Given the description of an element on the screen output the (x, y) to click on. 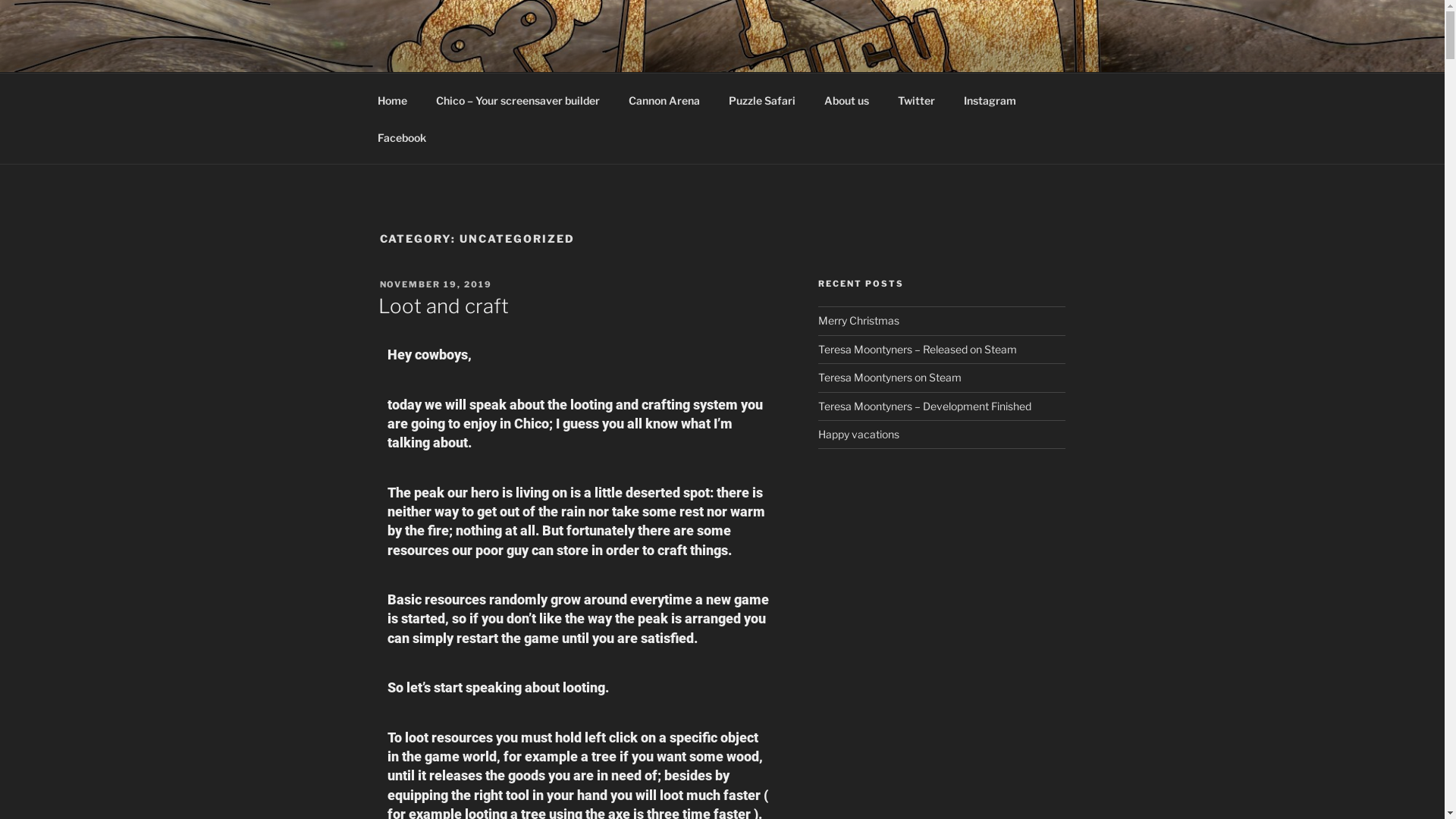
1MONKEY2BRAINS Element type: text (528, 52)
Home Element type: text (392, 100)
Puzzle Safari Element type: text (762, 100)
Happy vacations Element type: text (858, 433)
NOVEMBER 19, 2019 Element type: text (435, 284)
Twitter Element type: text (915, 100)
Teresa Moontyners on Steam Element type: text (889, 376)
Merry Christmas Element type: text (858, 319)
About us Element type: text (846, 100)
Facebook Element type: text (401, 136)
Loot and craft Element type: text (442, 305)
Instagram Element type: text (989, 100)
Cannon Arena Element type: text (664, 100)
